Given the description of an element on the screen output the (x, y) to click on. 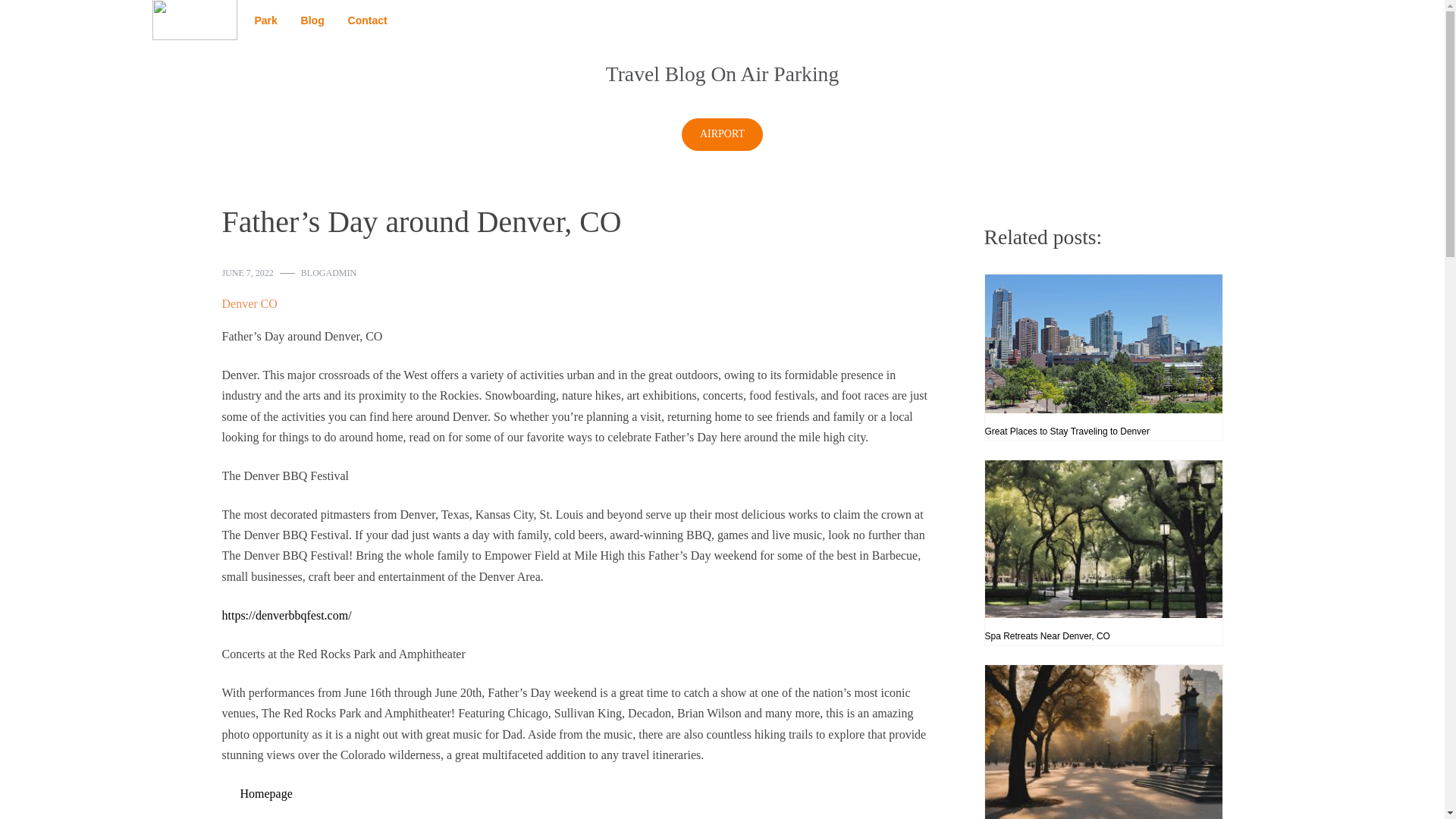
Spa Retreats Near Denver, CO (1103, 552)
Park (264, 20)
BLOGADMIN (328, 272)
Romantic Spots Near Denver, CO (1103, 741)
Homepage (266, 793)
JUNE 7, 2022 (247, 272)
AIRPORT (722, 134)
Denver CO (248, 303)
Blog (312, 20)
Great Places to Stay Traveling to Denver (1103, 357)
Contact (367, 20)
Great Places to Stay Traveling to Denver (1103, 357)
